Given the description of an element on the screen output the (x, y) to click on. 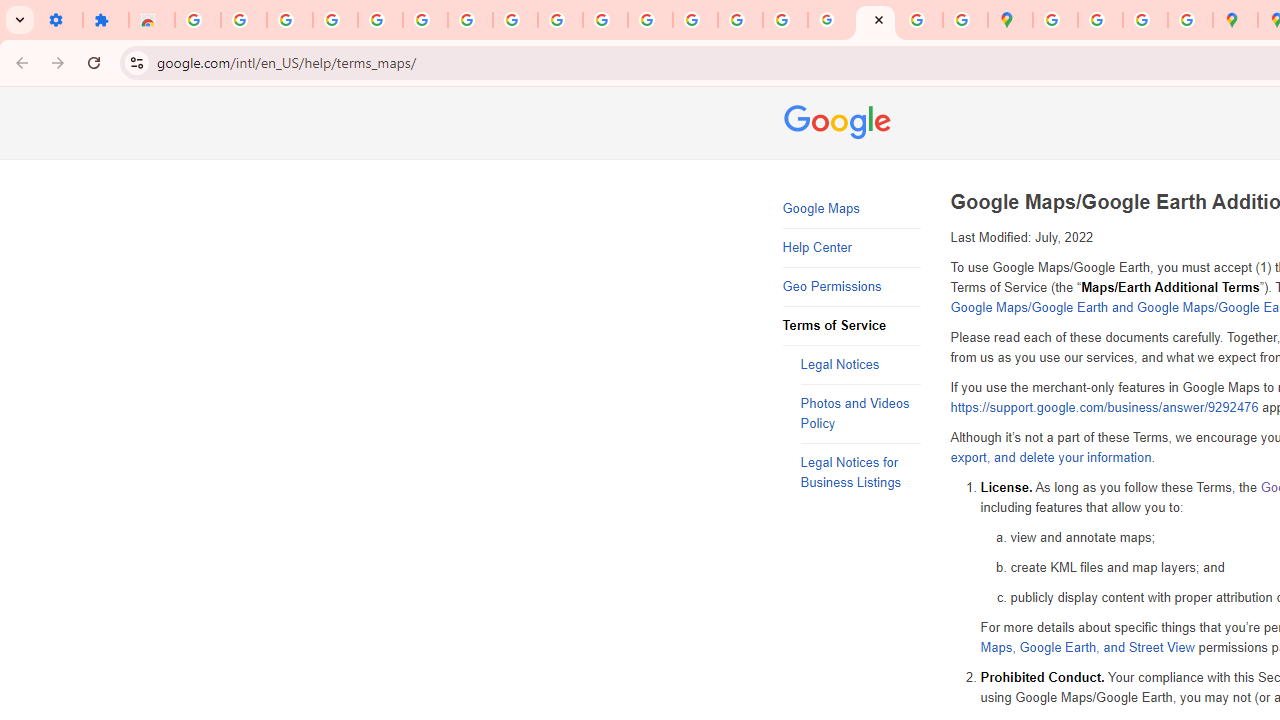
Google Maps (851, 209)
Sign in - Google Accounts (425, 20)
https://support.google.com/business/answer/9292476 (1104, 408)
Google Account (514, 20)
https://scholar.google.com/ (650, 20)
Reviews: Helix Fruit Jump Arcade Game (152, 20)
Safety in Our Products - Google Safety Center (1190, 20)
